Given the description of an element on the screen output the (x, y) to click on. 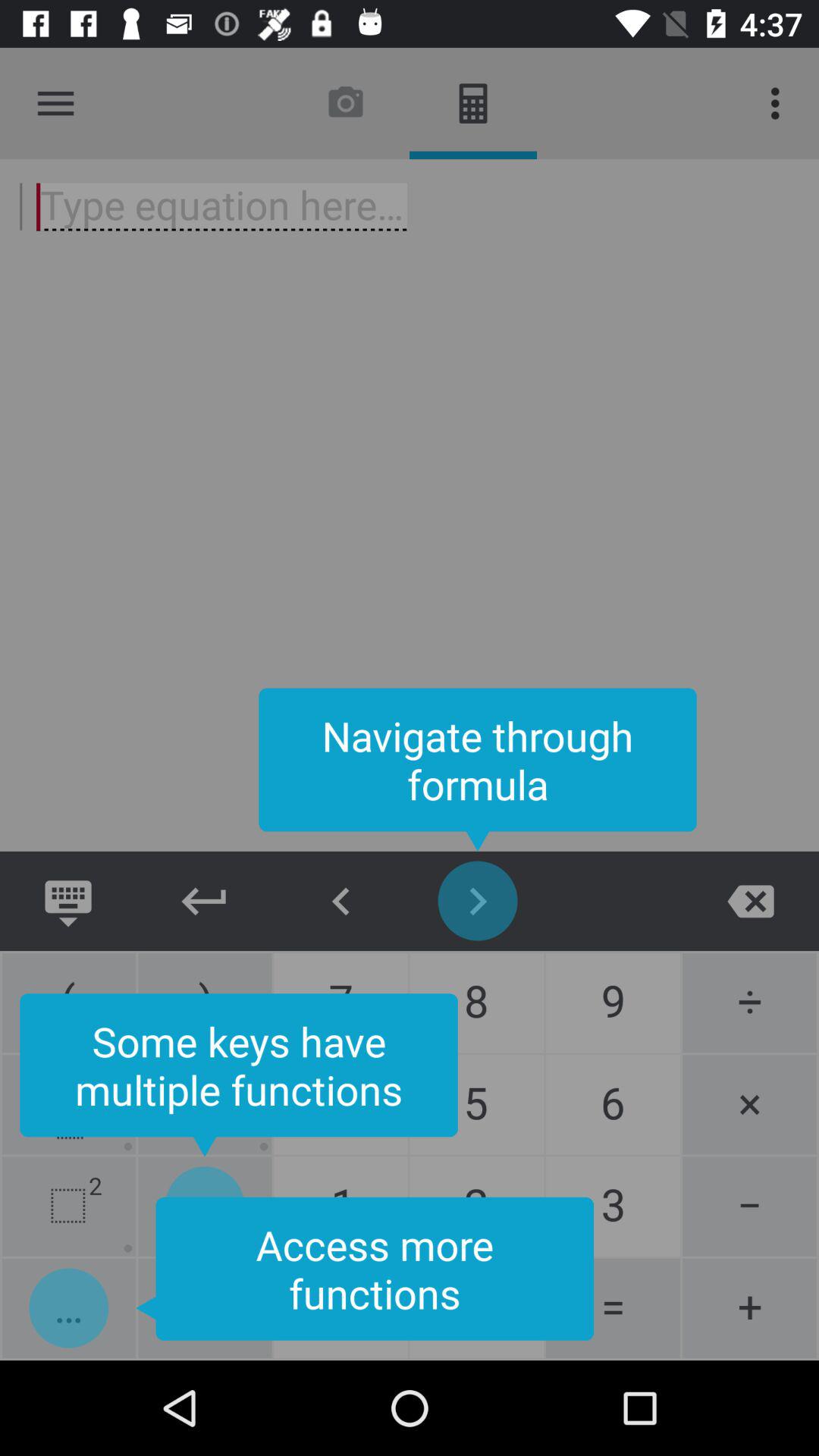
go to menu (55, 103)
